Given the description of an element on the screen output the (x, y) to click on. 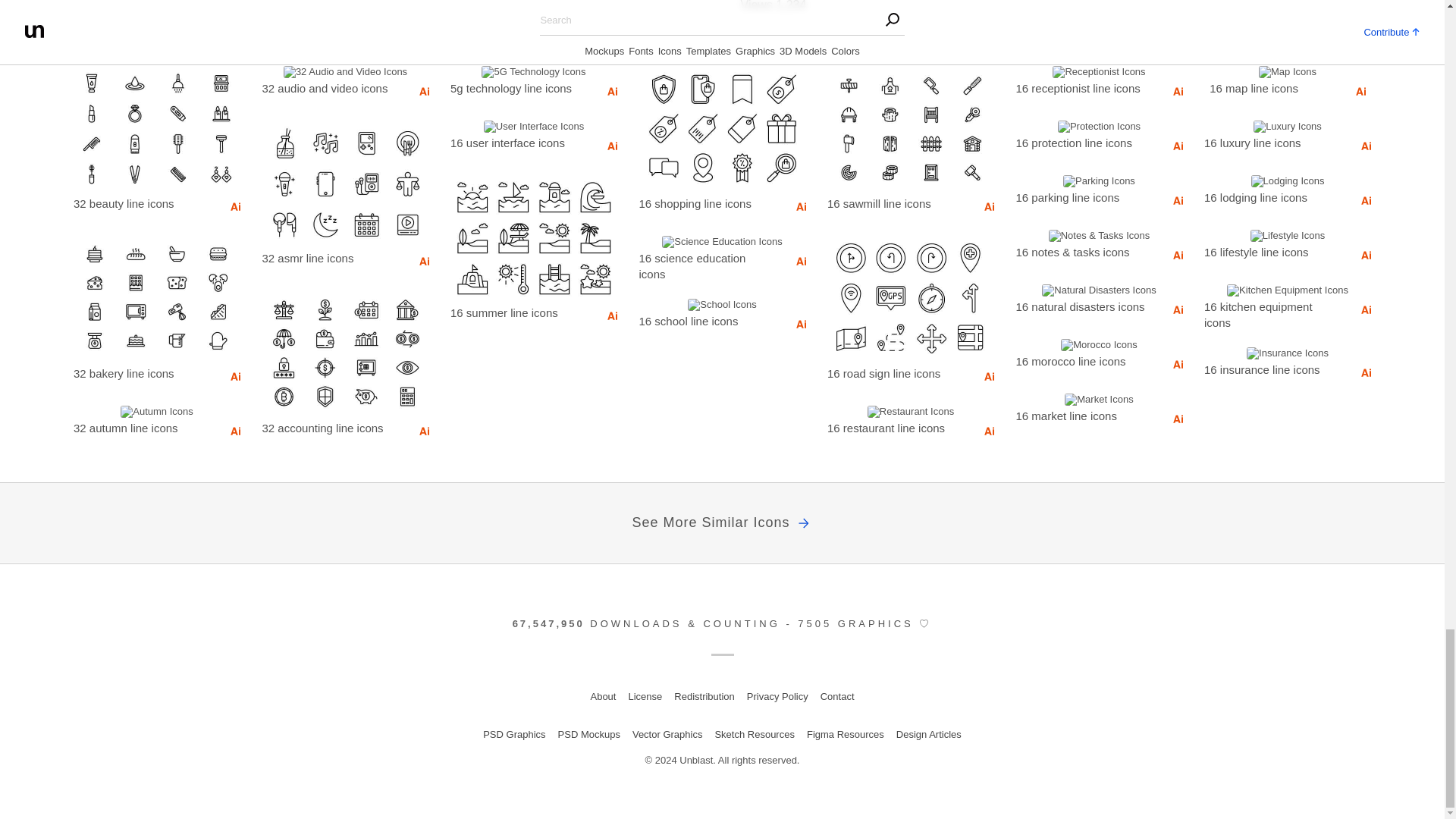
32 beauty line icons (140, 202)
16 science education icons (705, 265)
16 shopping line icons (705, 202)
16 summer line icons (516, 312)
32 bakery line icons (140, 373)
16 user interface icons (516, 142)
16 sawmill line icons (893, 202)
32 audio and video icons (329, 87)
32 accounting line icons (329, 427)
32 asmr line icons (329, 257)
